Given the description of an element on the screen output the (x, y) to click on. 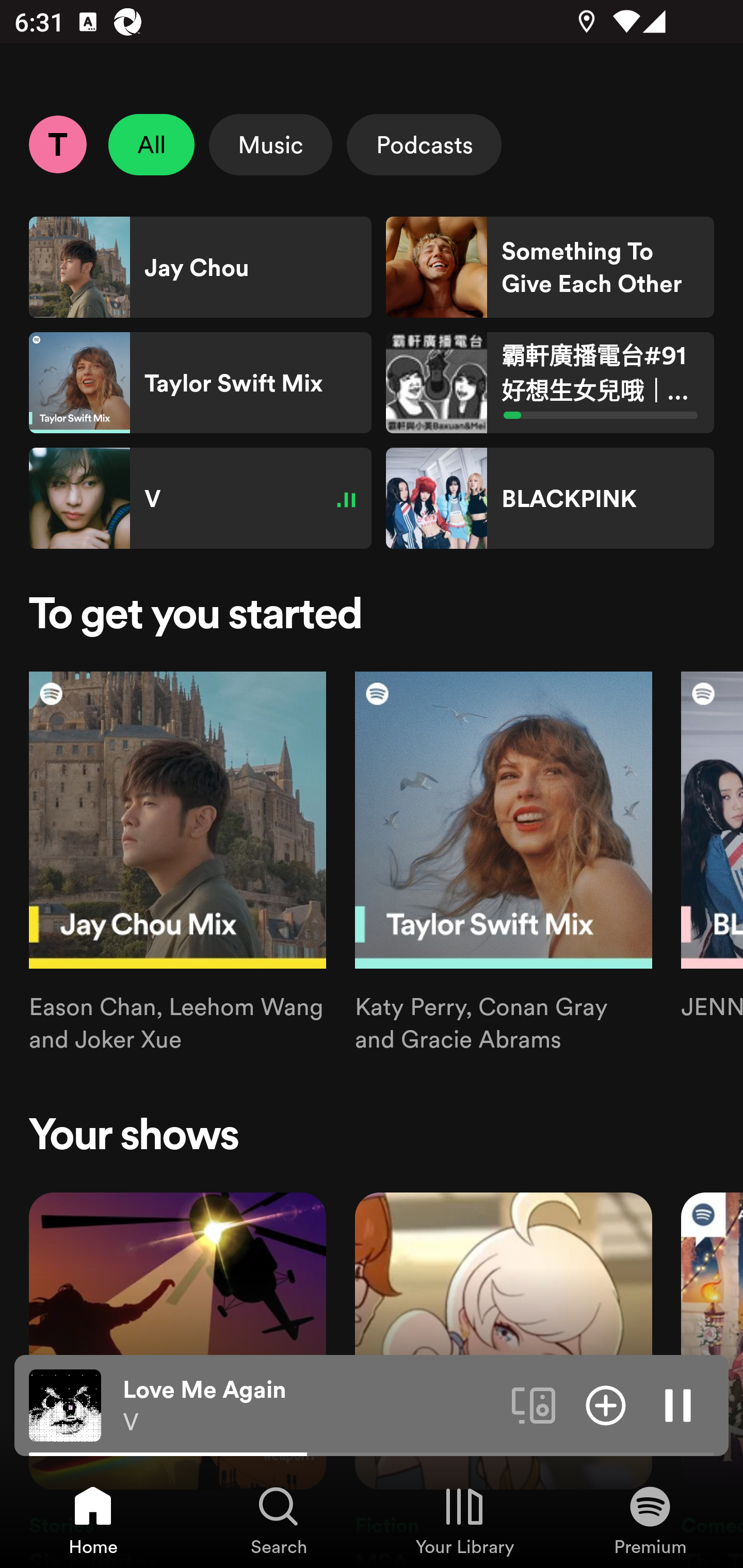
Profile (57, 144)
All Unselect All (151, 144)
Music Select Music (270, 144)
Podcasts Select Podcasts (423, 144)
Jay Chou Shortcut Jay Chou (199, 267)
Taylor Swift Mix Shortcut Taylor Swift Mix (199, 382)
V Shortcut V Playing (199, 498)
BLACKPINK Shortcut BLACKPINK (549, 498)
Love Me Again V (309, 1405)
The cover art of the currently playing track (64, 1404)
Connect to a device. Opens the devices menu (533, 1404)
Add item (605, 1404)
Pause (677, 1404)
Home, Tab 1 of 4 Home Home (92, 1519)
Search, Tab 2 of 4 Search Search (278, 1519)
Your Library, Tab 3 of 4 Your Library Your Library (464, 1519)
Premium, Tab 4 of 4 Premium Premium (650, 1519)
